Given the description of an element on the screen output the (x, y) to click on. 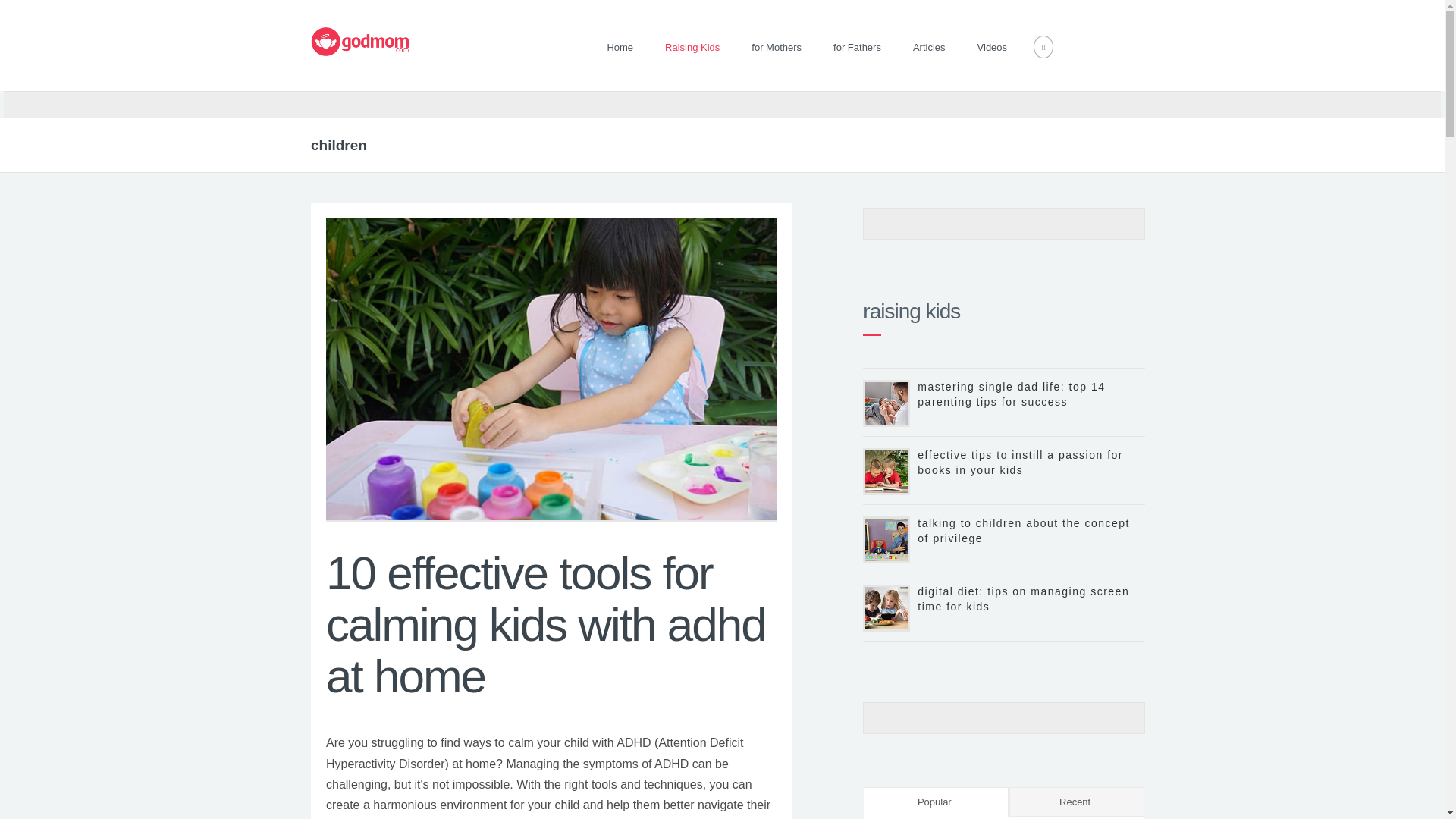
for Fathers (856, 47)
Recent (1076, 801)
digital diet: tips on managing screen time for kids (1023, 598)
for Mothers (776, 47)
mastering single dad life: top 14 parenting tips for success (1011, 393)
Popular (935, 801)
Raising Kids (692, 47)
Home (620, 47)
talking to children about the concept of privilege (1023, 530)
Videos (991, 47)
Articles (928, 47)
effective tips to instill a passion for books in your kids (1019, 461)
